Given the description of an element on the screen output the (x, y) to click on. 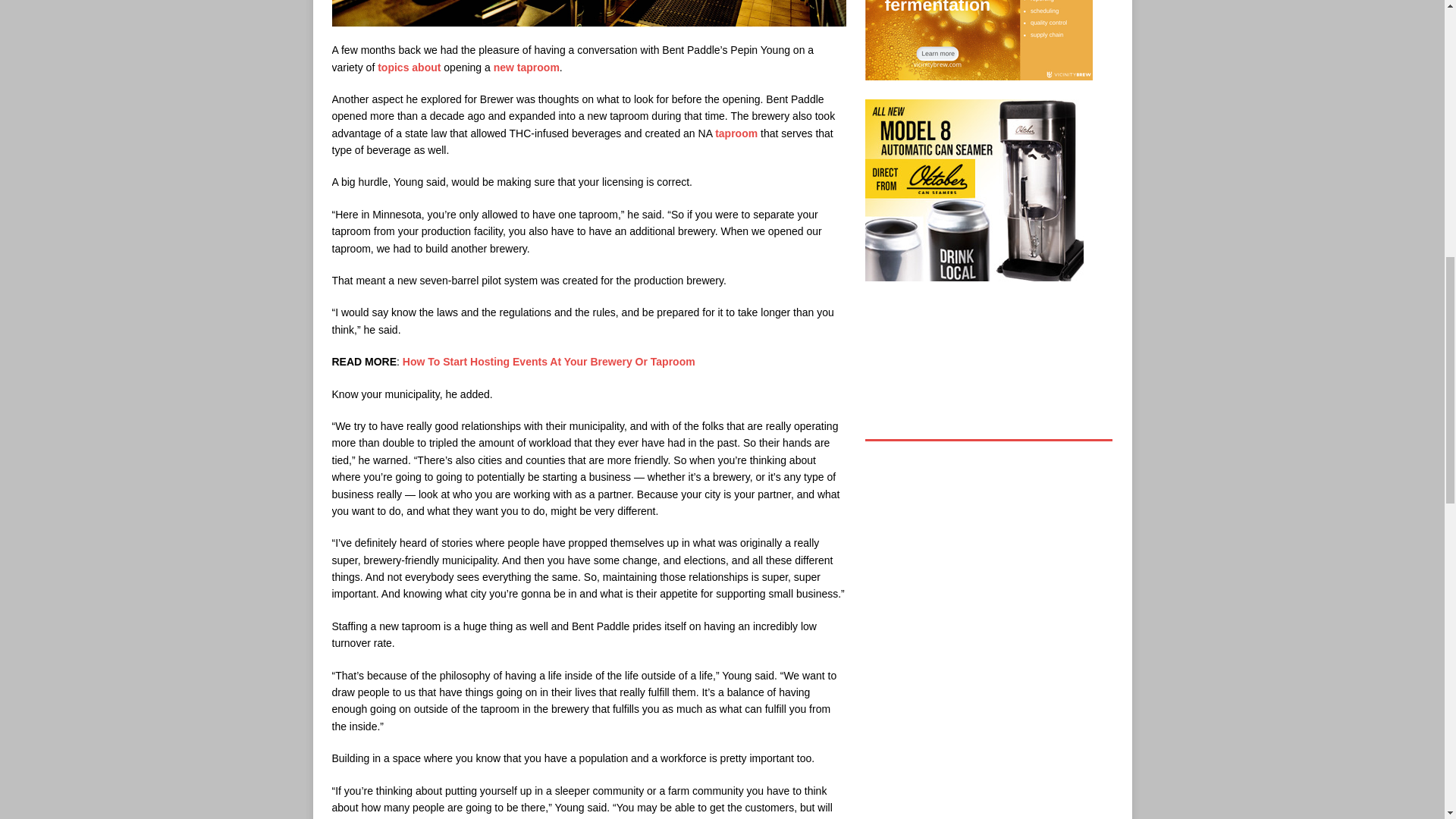
taproom (735, 133)
topics (393, 66)
How To Start Hosting Events At Your Brewery Or Taproom (549, 361)
taproom (537, 66)
bent paddle taproom 1240x (588, 13)
about (426, 66)
new (503, 66)
